Given the description of an element on the screen output the (x, y) to click on. 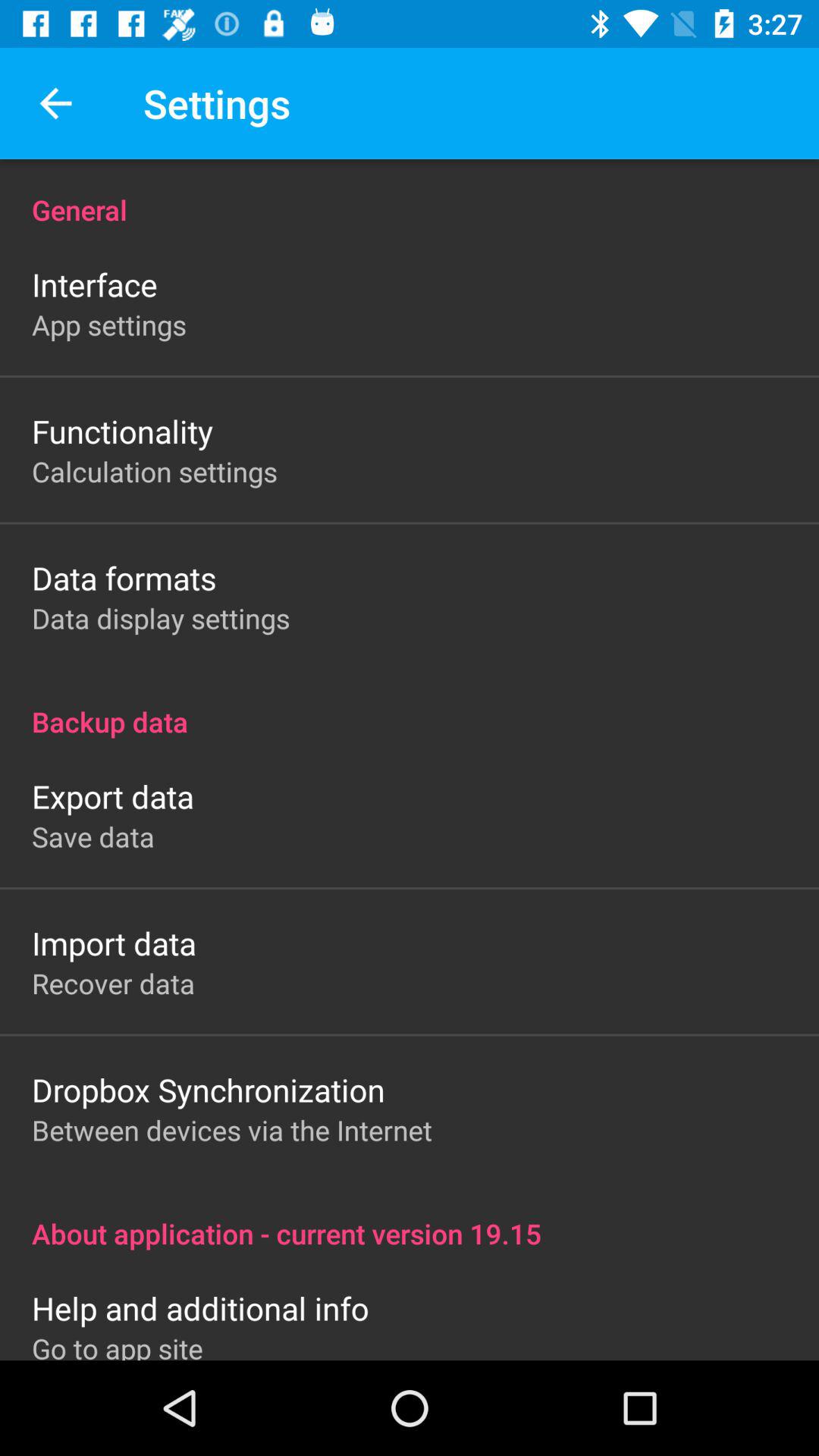
open import data icon (113, 942)
